Given the description of an element on the screen output the (x, y) to click on. 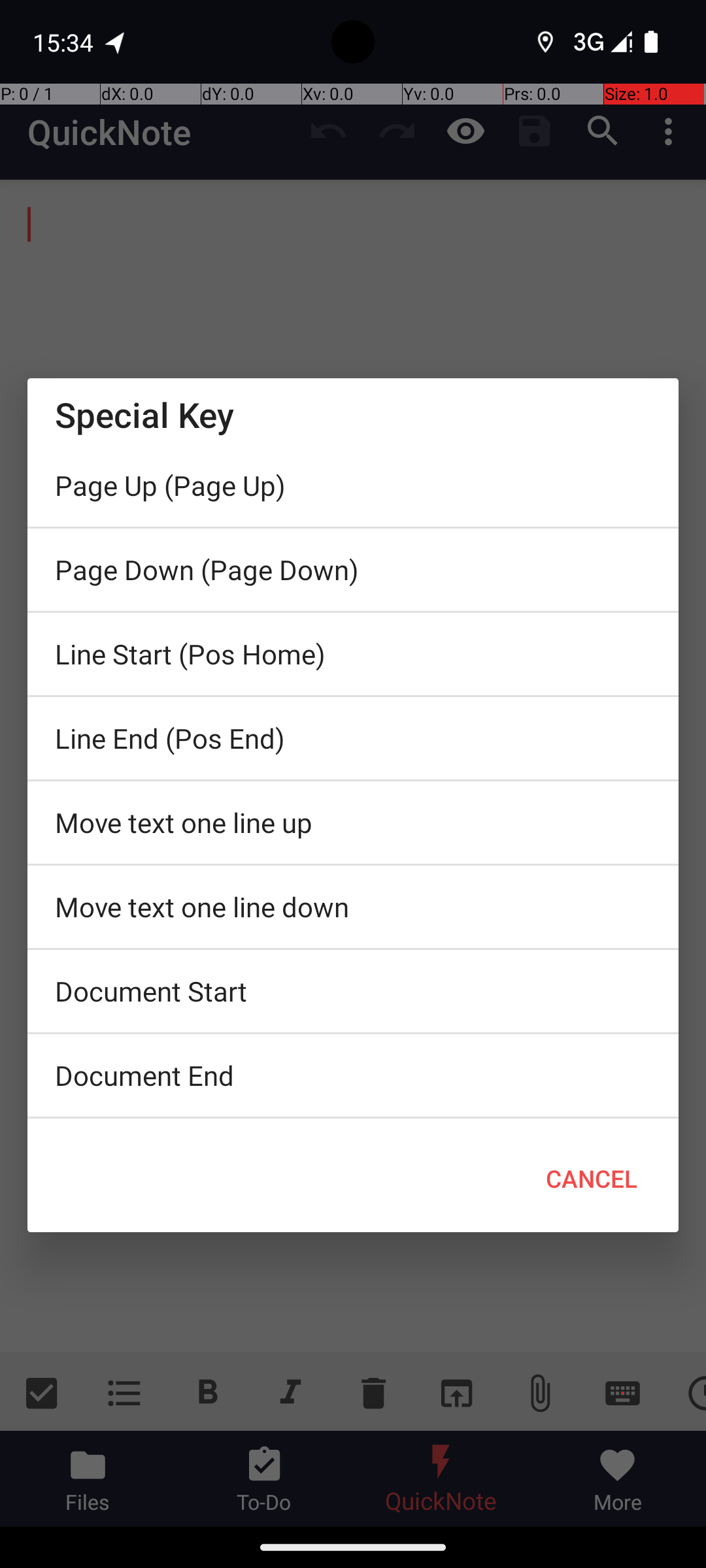
Page Up (Page Up) Element type: android.widget.TextView (352, 485)
Page Down (Page Down) Element type: android.widget.TextView (352, 569)
Line Start (Pos Home) Element type: android.widget.TextView (352, 653)
Line End (Pos End) Element type: android.widget.TextView (352, 738)
Move text one line up Element type: android.widget.TextView (352, 822)
Move text one line down Element type: android.widget.TextView (352, 906)
Document Start Element type: android.widget.TextView (352, 990)
Document End Element type: android.widget.TextView (352, 1075)
Select all (Ctrl+A) Element type: android.widget.TextView (352, 1121)
